Given the description of an element on the screen output the (x, y) to click on. 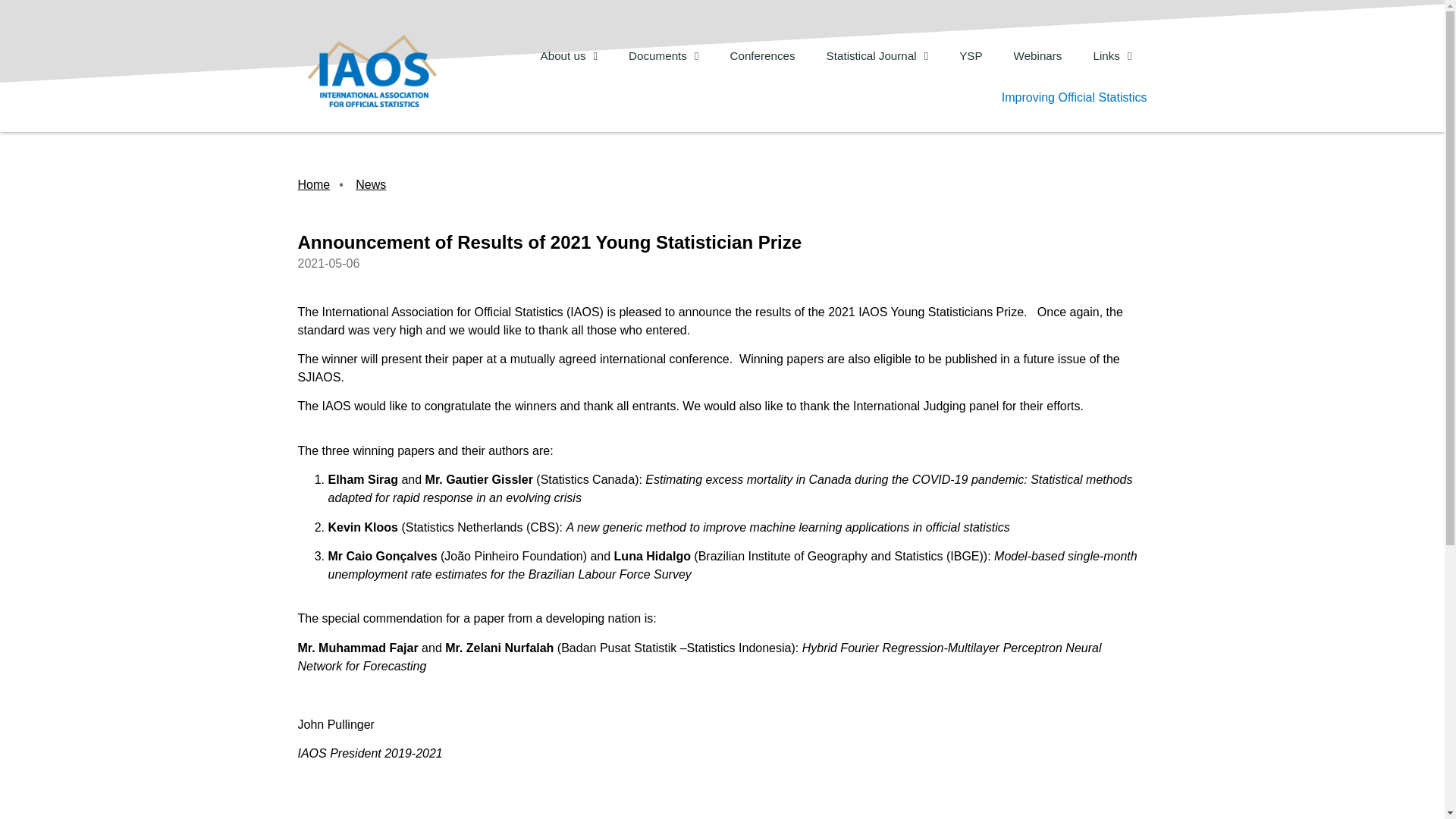
Webinars (1037, 55)
Links (1112, 55)
About us (568, 55)
Documents (662, 55)
Conferences (761, 55)
YSP (970, 55)
Statistical Journal (876, 55)
